Given the description of an element on the screen output the (x, y) to click on. 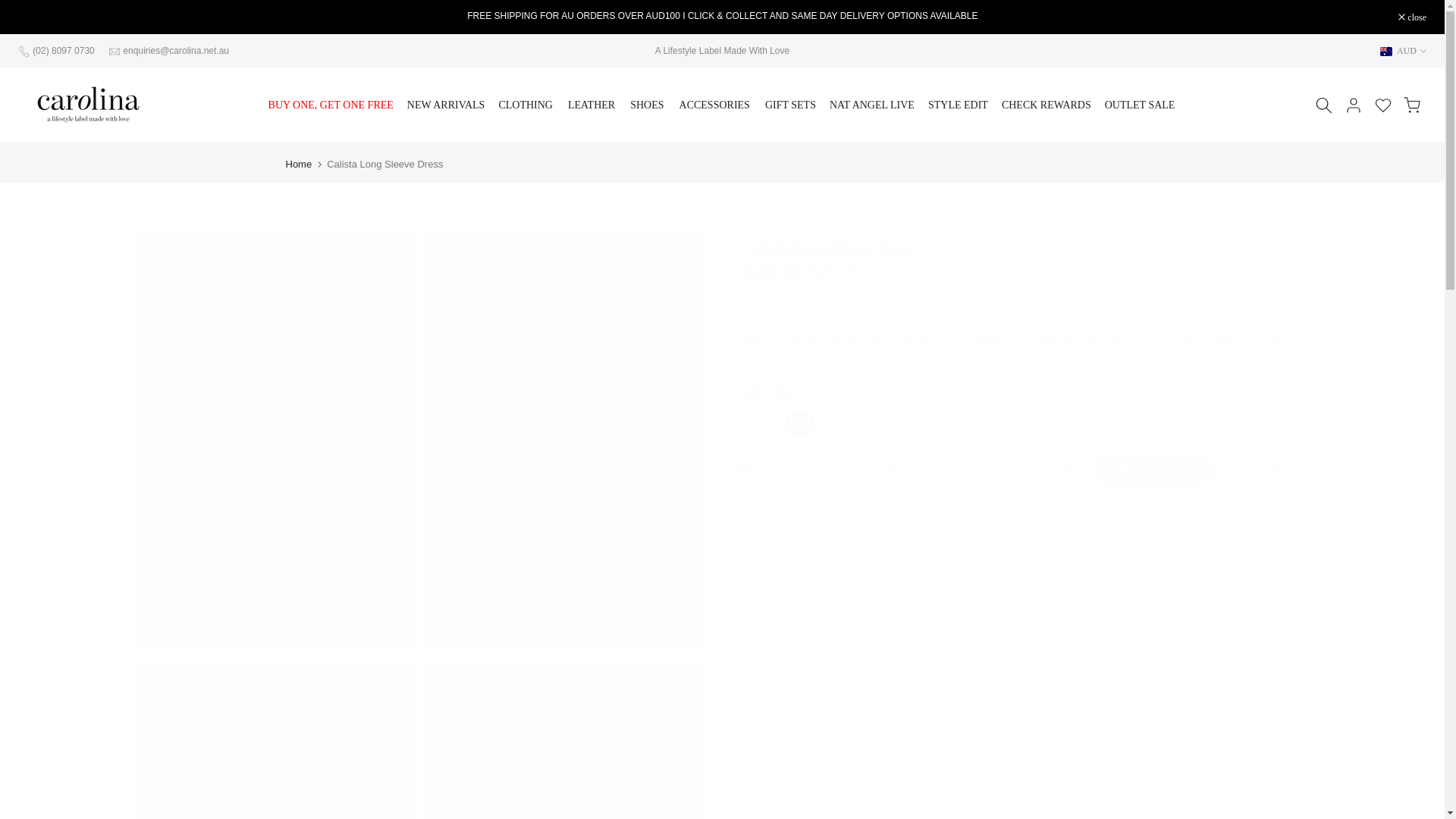
close (1411, 16)
Skip to content (10, 7)
AUD (1403, 50)
1 (1039, 469)
